Given the description of an element on the screen output the (x, y) to click on. 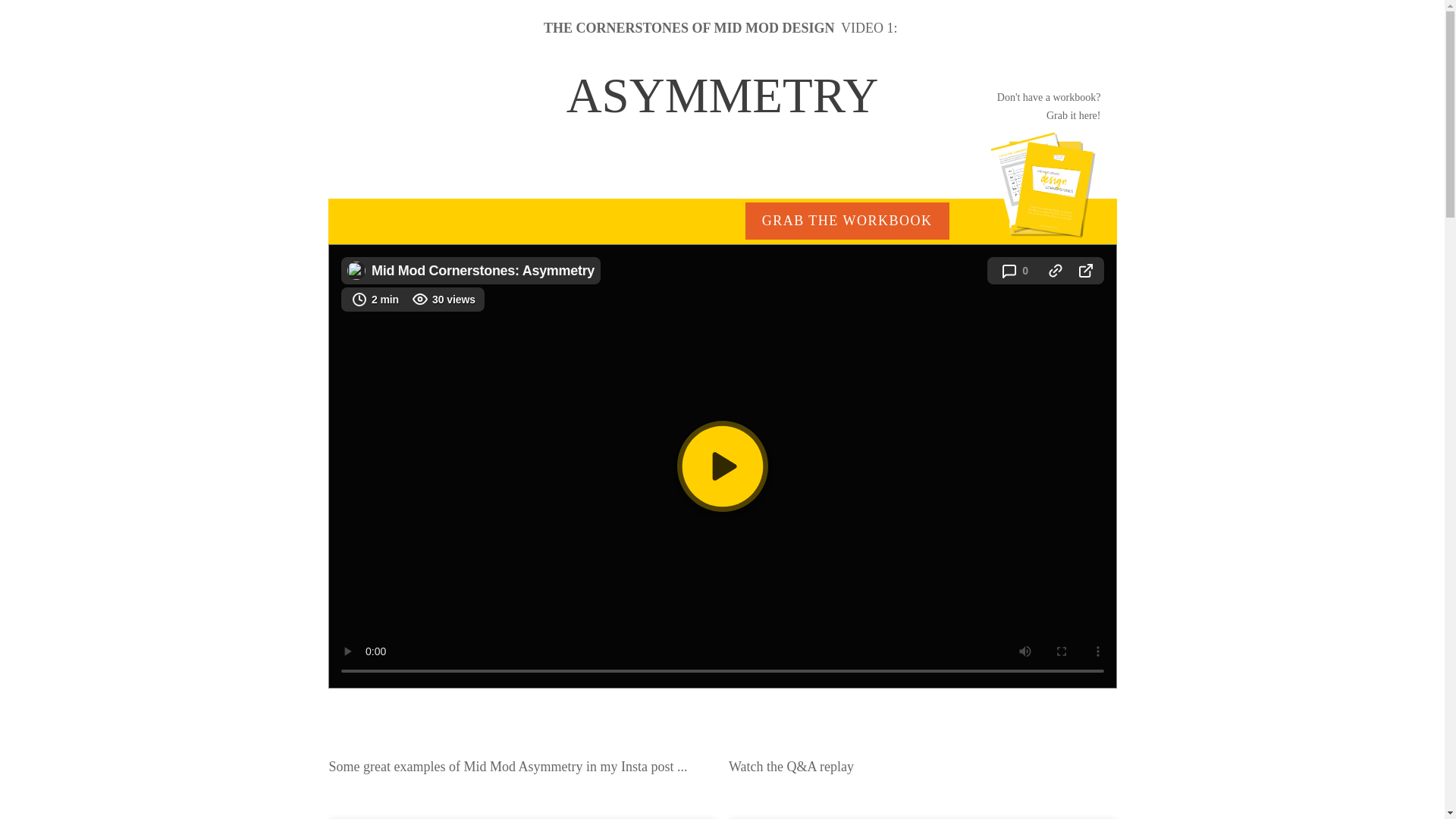
GRAB THE WORKBOOK (847, 220)
cornerstone cover images (1043, 185)
